Given the description of an element on the screen output the (x, y) to click on. 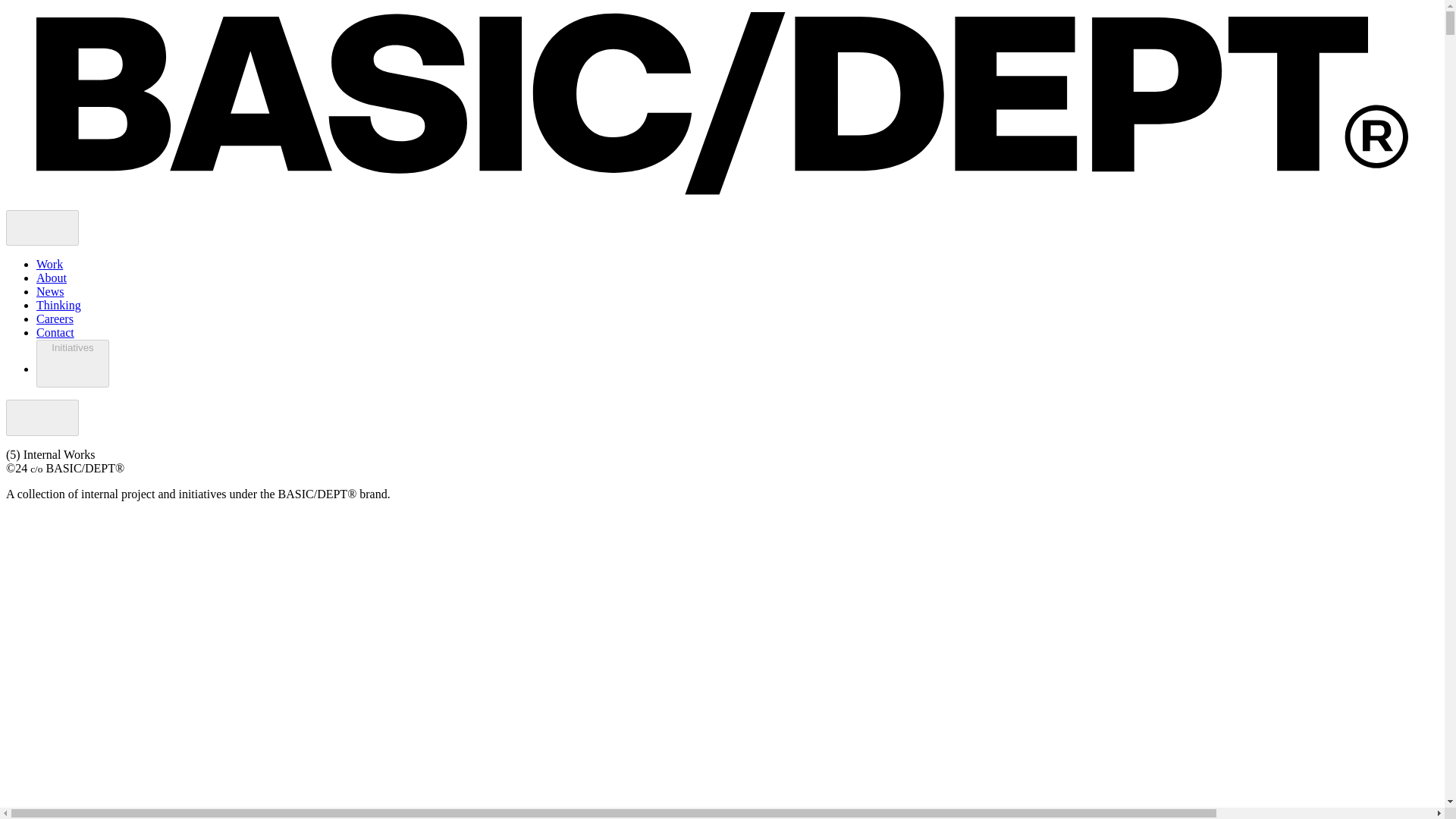
About (51, 277)
Contact (55, 332)
Initiatives (72, 363)
Thinking (58, 305)
Work (49, 264)
News (50, 291)
Careers (55, 318)
